Given the description of an element on the screen output the (x, y) to click on. 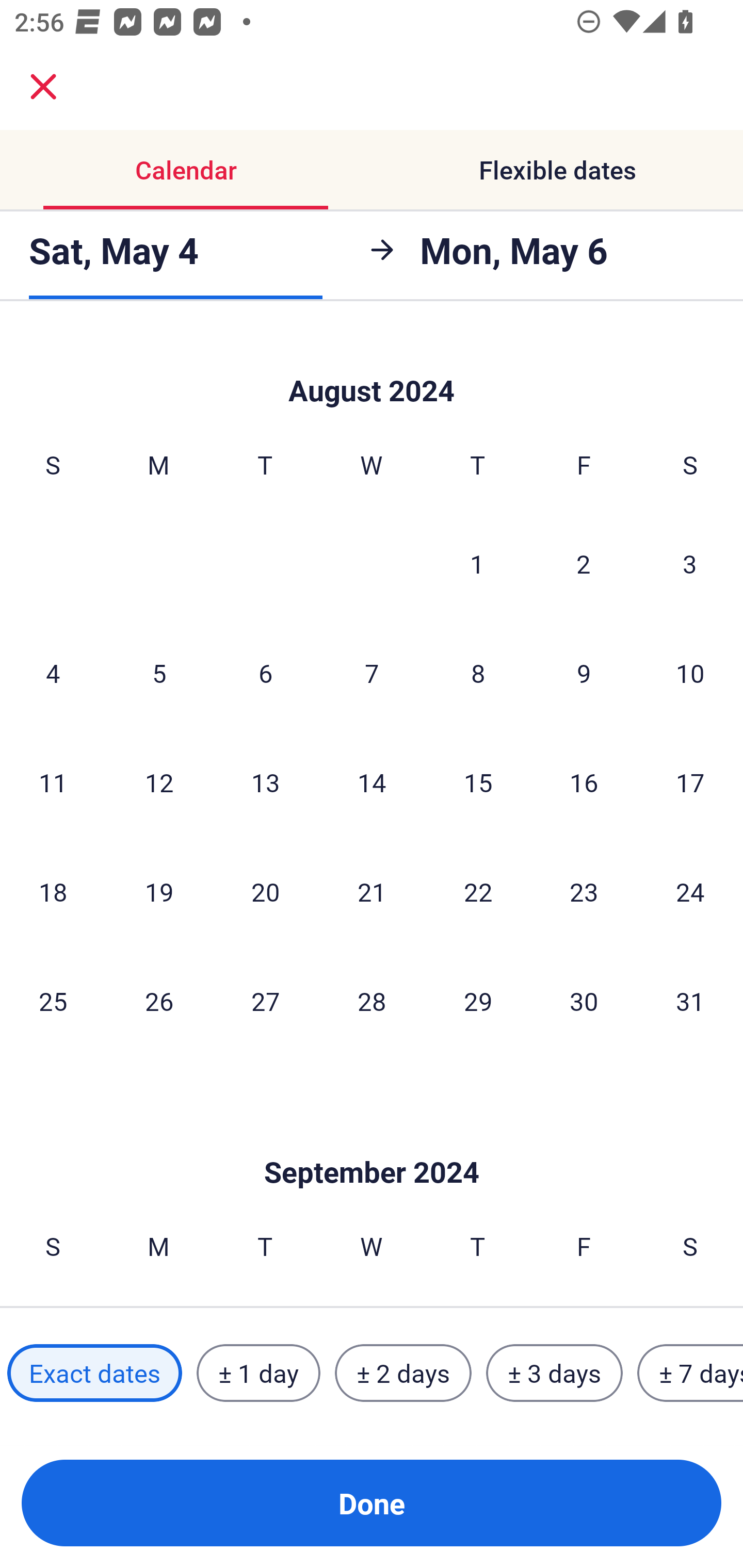
close. (43, 86)
Flexible dates (557, 170)
Skip to Done (371, 366)
1 Thursday, August 1, 2024 (477, 563)
2 Friday, August 2, 2024 (583, 563)
3 Saturday, August 3, 2024 (689, 563)
4 Sunday, August 4, 2024 (53, 672)
5 Monday, August 5, 2024 (159, 672)
6 Tuesday, August 6, 2024 (265, 672)
7 Wednesday, August 7, 2024 (371, 672)
8 Thursday, August 8, 2024 (477, 672)
9 Friday, August 9, 2024 (584, 672)
10 Saturday, August 10, 2024 (690, 672)
11 Sunday, August 11, 2024 (53, 782)
12 Monday, August 12, 2024 (159, 782)
13 Tuesday, August 13, 2024 (265, 782)
14 Wednesday, August 14, 2024 (371, 782)
15 Thursday, August 15, 2024 (477, 782)
16 Friday, August 16, 2024 (584, 782)
17 Saturday, August 17, 2024 (690, 782)
18 Sunday, August 18, 2024 (53, 890)
19 Monday, August 19, 2024 (159, 890)
20 Tuesday, August 20, 2024 (265, 890)
21 Wednesday, August 21, 2024 (371, 890)
22 Thursday, August 22, 2024 (477, 890)
23 Friday, August 23, 2024 (584, 890)
24 Saturday, August 24, 2024 (690, 890)
25 Sunday, August 25, 2024 (53, 1000)
26 Monday, August 26, 2024 (159, 1000)
27 Tuesday, August 27, 2024 (265, 1000)
28 Wednesday, August 28, 2024 (371, 1000)
29 Thursday, August 29, 2024 (477, 1000)
30 Friday, August 30, 2024 (584, 1000)
31 Saturday, August 31, 2024 (690, 1000)
Skip to Done (371, 1141)
Exact dates (94, 1372)
± 1 day (258, 1372)
± 2 days (403, 1372)
± 3 days (553, 1372)
± 7 days (690, 1372)
Done (371, 1502)
